Given the description of an element on the screen output the (x, y) to click on. 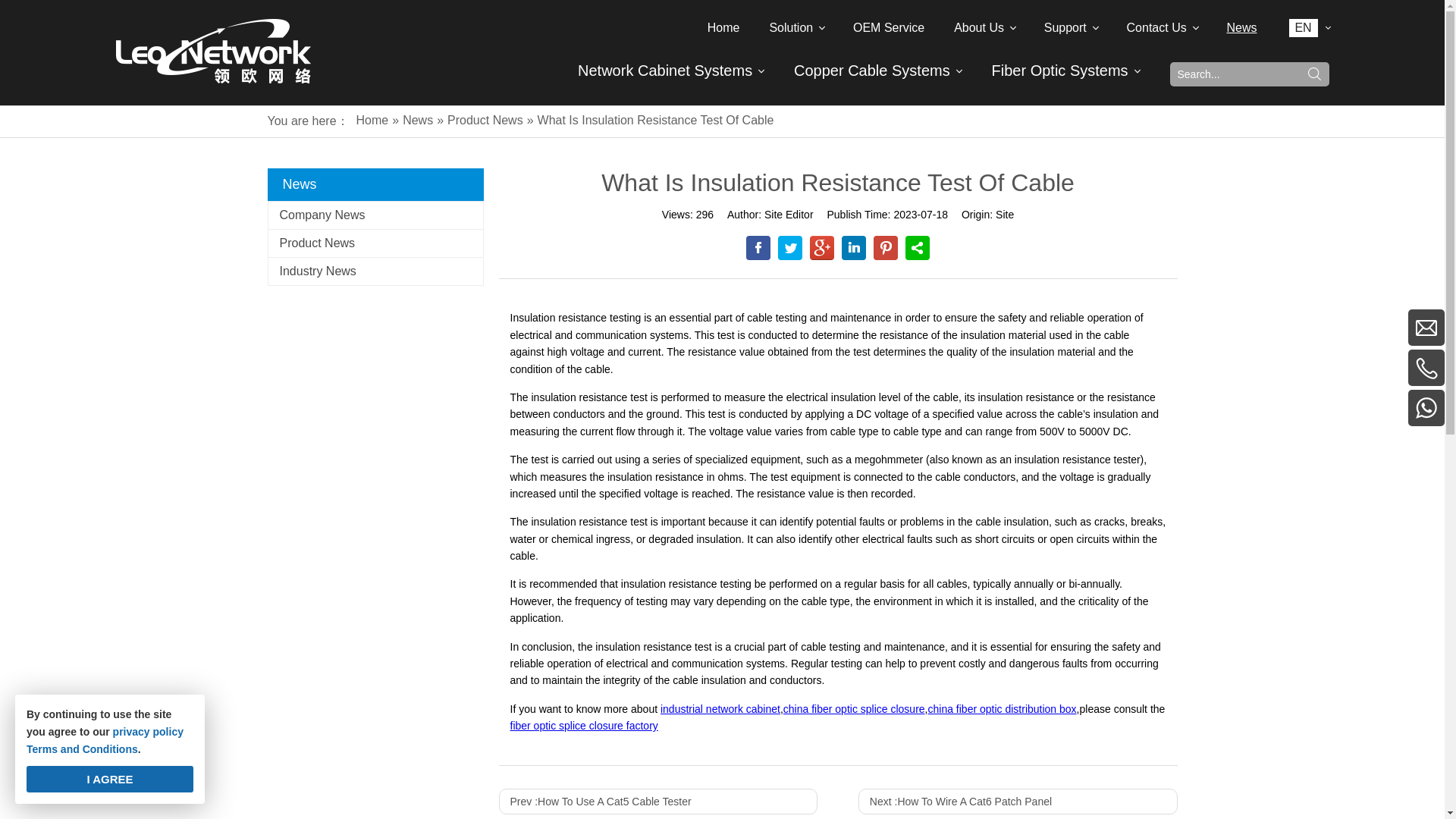
Solution (796, 27)
Home (723, 27)
OEM Service (888, 27)
Copper Cable Systems (871, 70)
About Us (983, 27)
Network Cabinet Systems (665, 70)
Contact Us (1161, 27)
News (1240, 27)
Support (1070, 27)
